Given the description of an element on the screen output the (x, y) to click on. 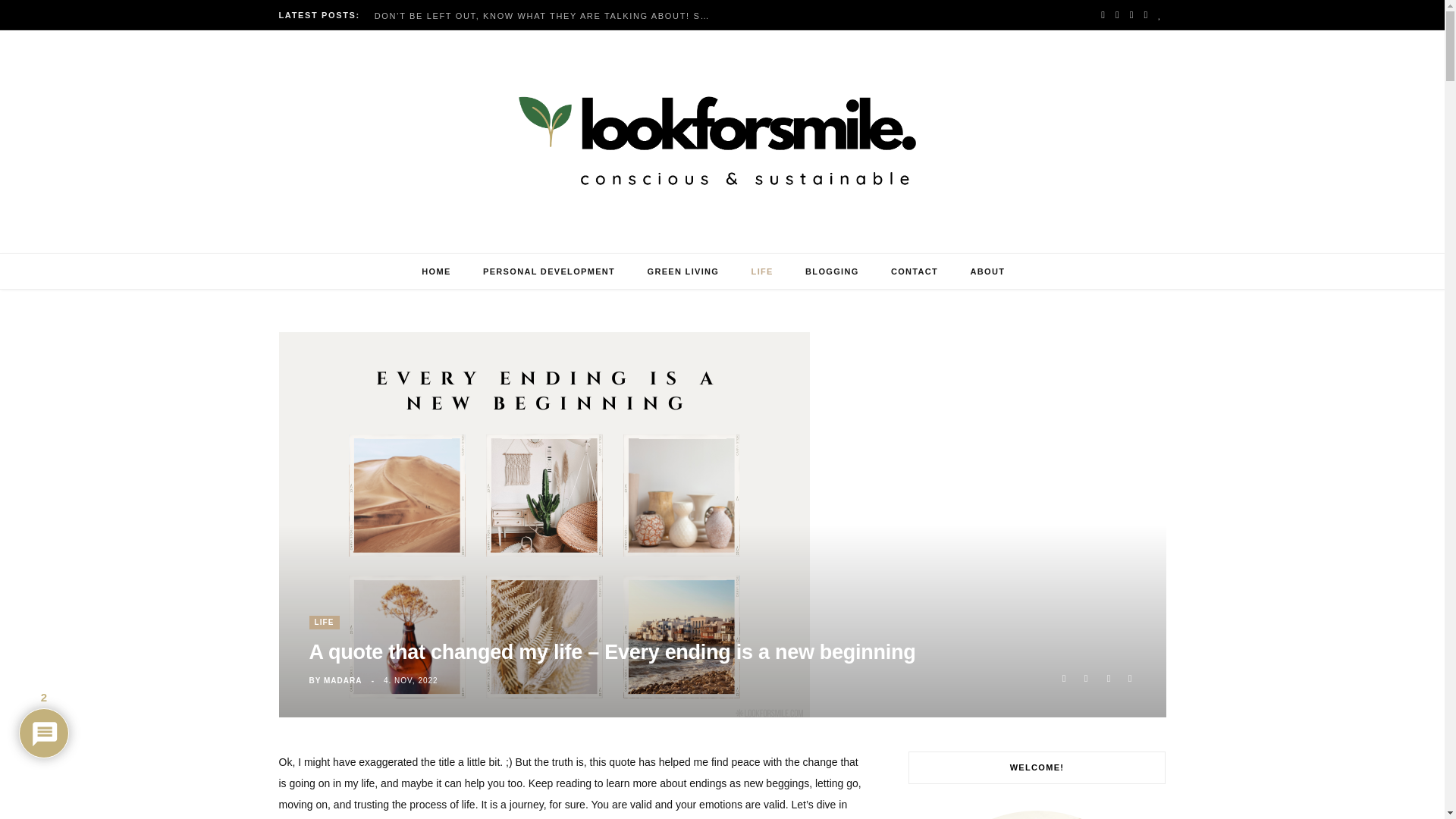
Lookforsmile (722, 142)
Share on Facebook (1063, 678)
BLOGGING (831, 271)
Share on Twitter (1086, 678)
Posts by Madara (342, 680)
LIFE (323, 622)
GREEN LIVING (683, 271)
HOME (435, 271)
PERSONAL DEVELOPMENT (548, 271)
Share on Pinterest (1130, 678)
CONTACT (914, 271)
LIFE (761, 271)
ABOUT (988, 271)
MADARA (342, 680)
